Given the description of an element on the screen output the (x, y) to click on. 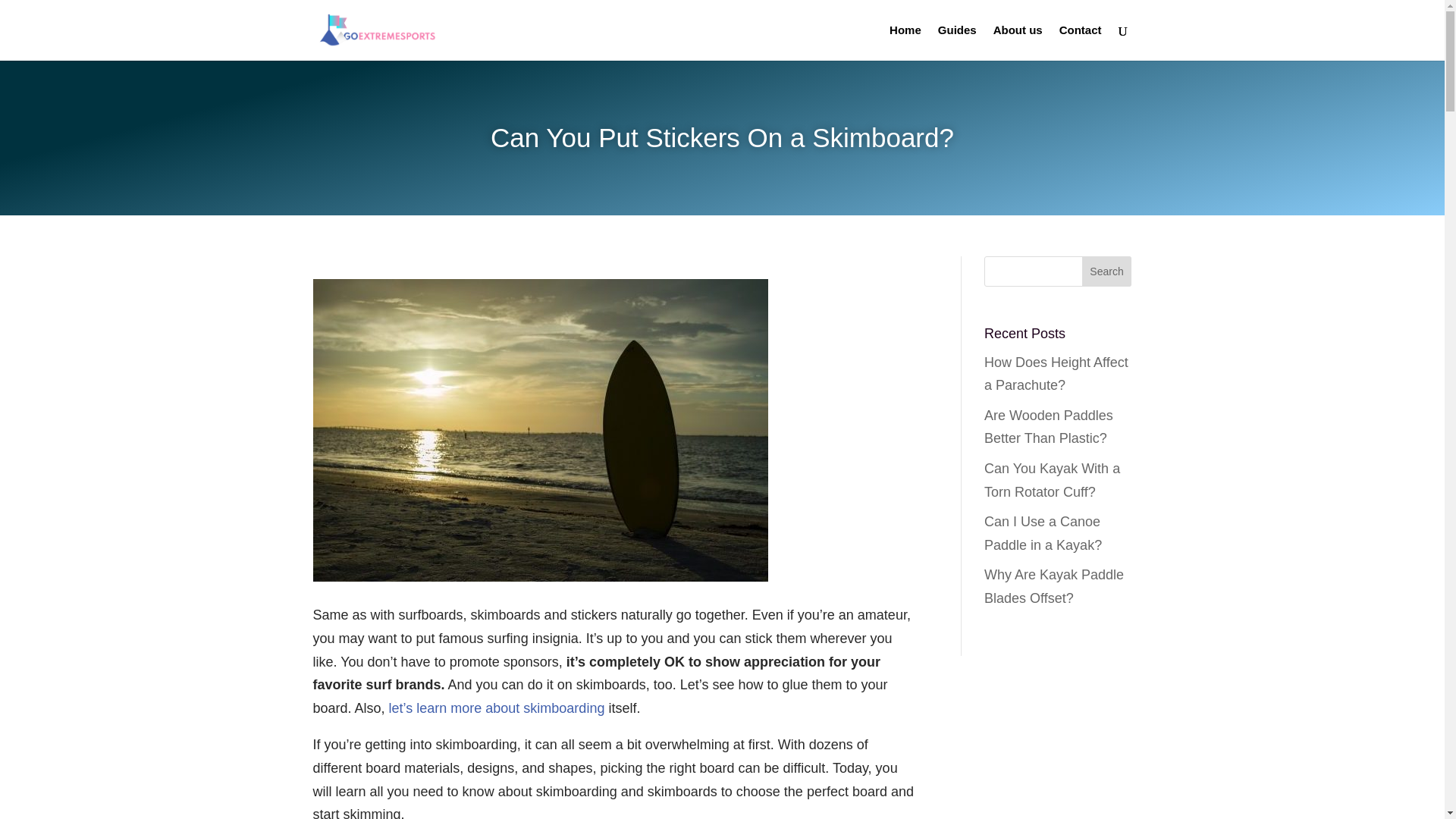
Why Are Kayak Paddle Blades Offset? (1054, 586)
Guides (956, 42)
About us (1017, 42)
Search (1106, 271)
Home (905, 42)
Are Wooden Paddles Better Than Plastic? (1048, 426)
Search (1106, 271)
Can I Use a Canoe Paddle in a Kayak? (1043, 533)
How Does Height Affect a Parachute? (1056, 373)
Contact (1080, 42)
Can You Kayak With a Torn Rotator Cuff? (1051, 480)
